Given the description of an element on the screen output the (x, y) to click on. 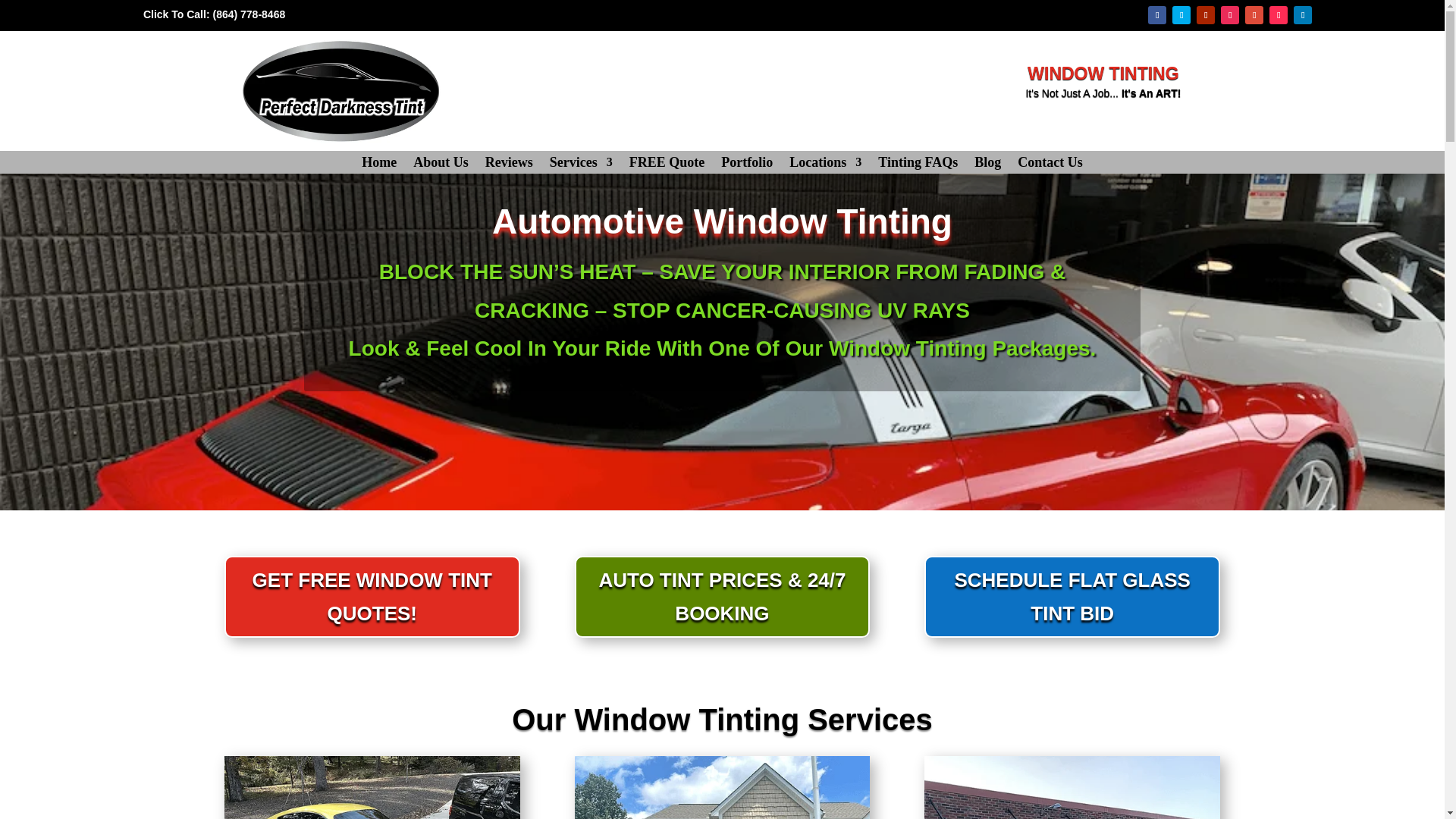
Follow on TikTok (1278, 14)
Locations (825, 165)
FREE Quote (666, 165)
Services (581, 165)
SCHEDULE FLAT GLASS TINT BID (1072, 597)
Perfect Darkness Tint logo (341, 90)
Portfolio (746, 165)
GET FREE WINDOW TINT QUOTES! (371, 597)
Follow on LinkedIn (1302, 14)
Follow on Twitter (1181, 14)
